Given the description of an element on the screen output the (x, y) to click on. 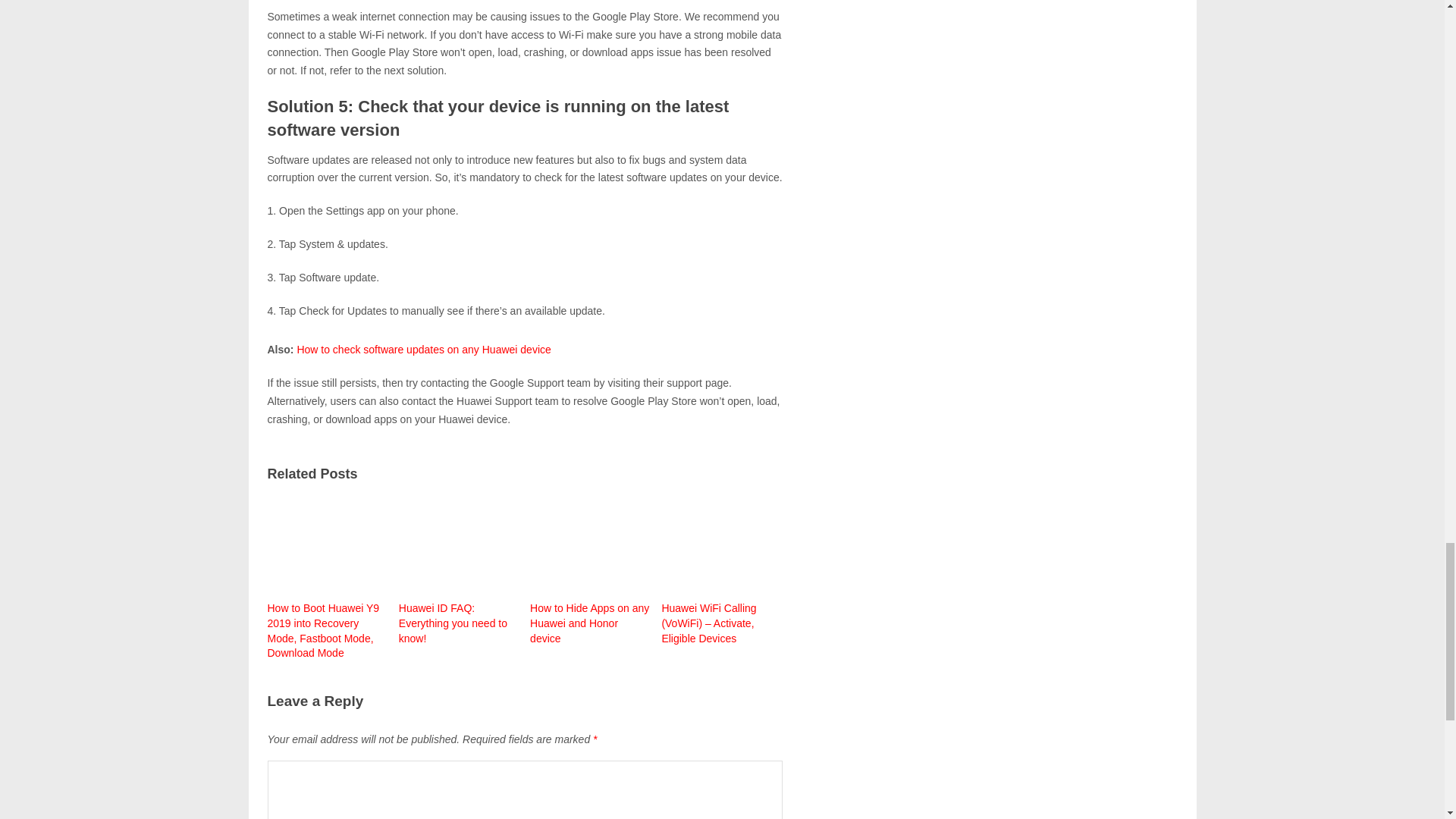
How to check software updates on any Huawei device (423, 349)
How to Hide Apps on any Huawei and Honor device (589, 568)
Huawei ID FAQ: Everything you need to know! (458, 568)
How to Hide Apps on any Huawei and Honor device (589, 568)
Huawei ID FAQ: Everything you need to know! (458, 568)
